Given the description of an element on the screen output the (x, y) to click on. 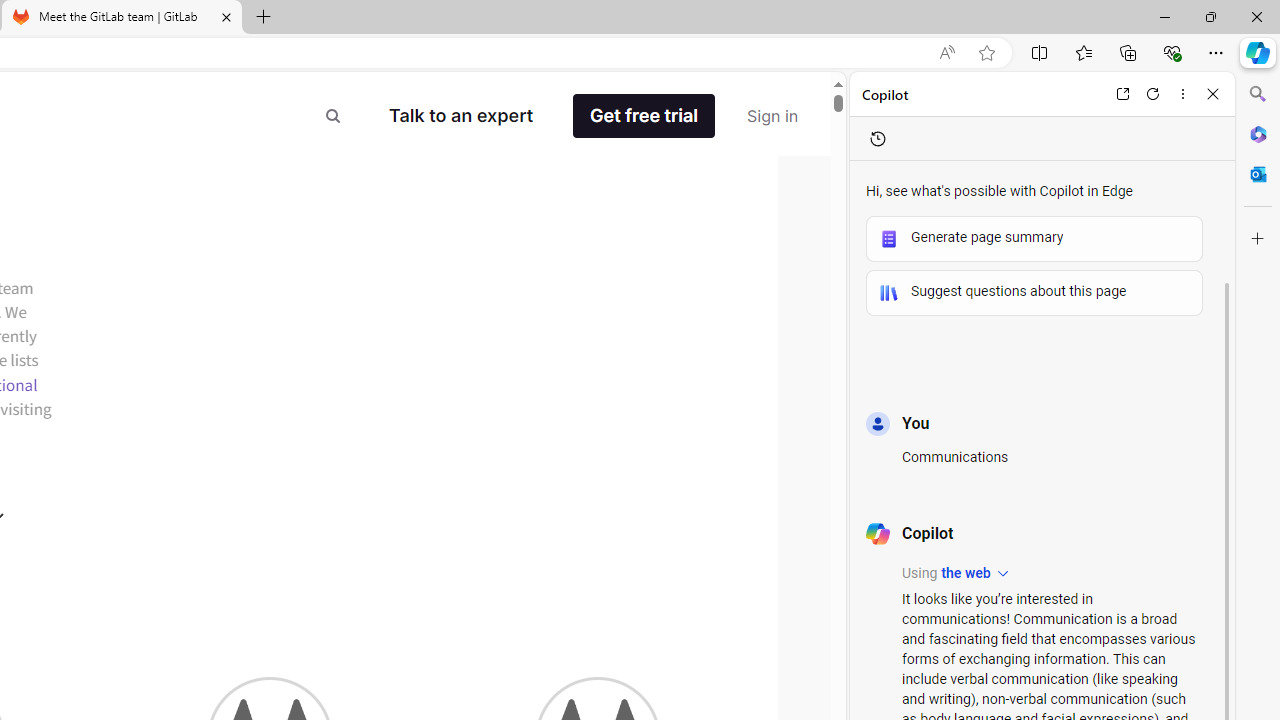
Talk to an expert (461, 115)
